Given the description of an element on the screen output the (x, y) to click on. 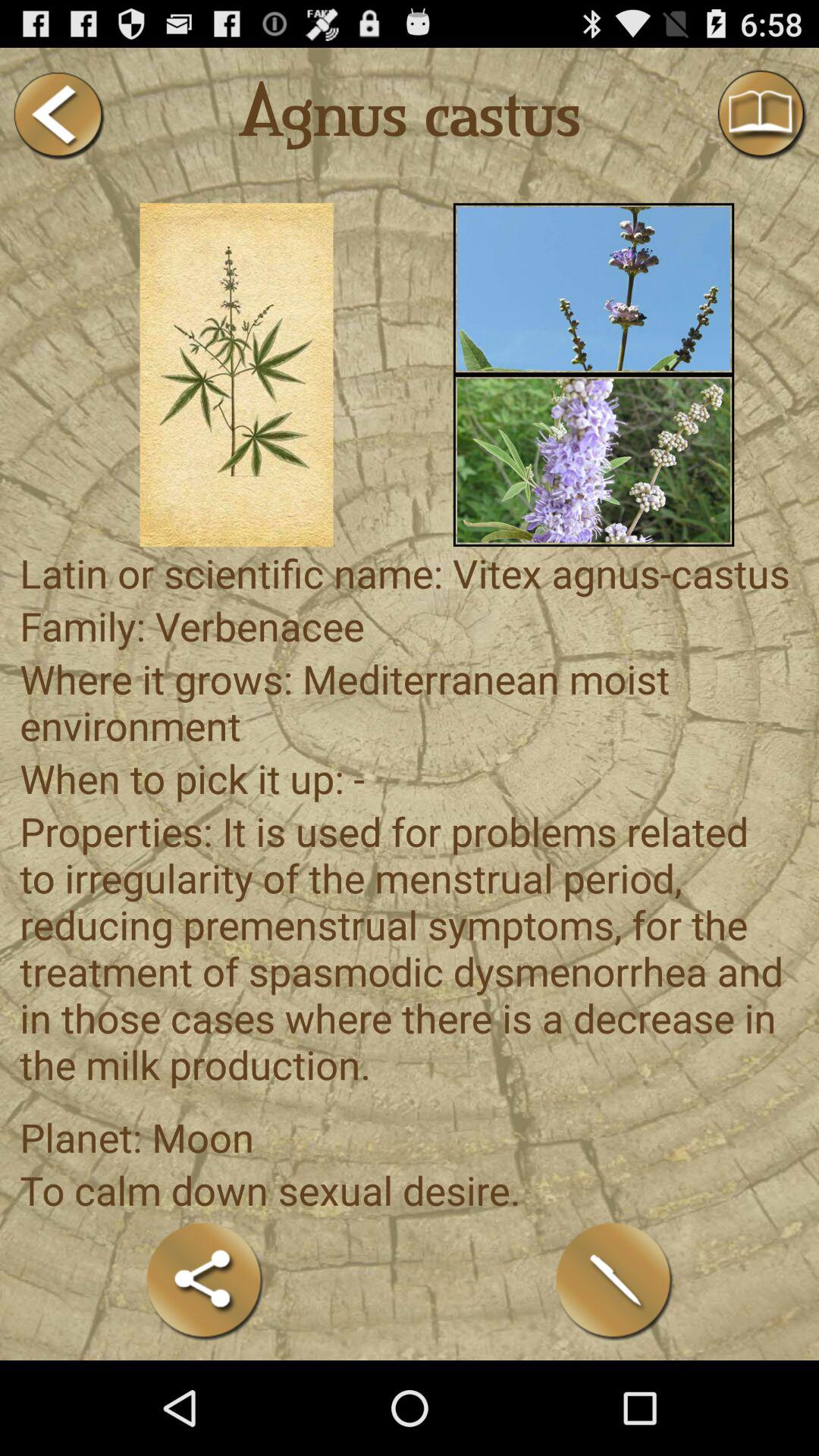
view image (593, 288)
